Given the description of an element on the screen output the (x, y) to click on. 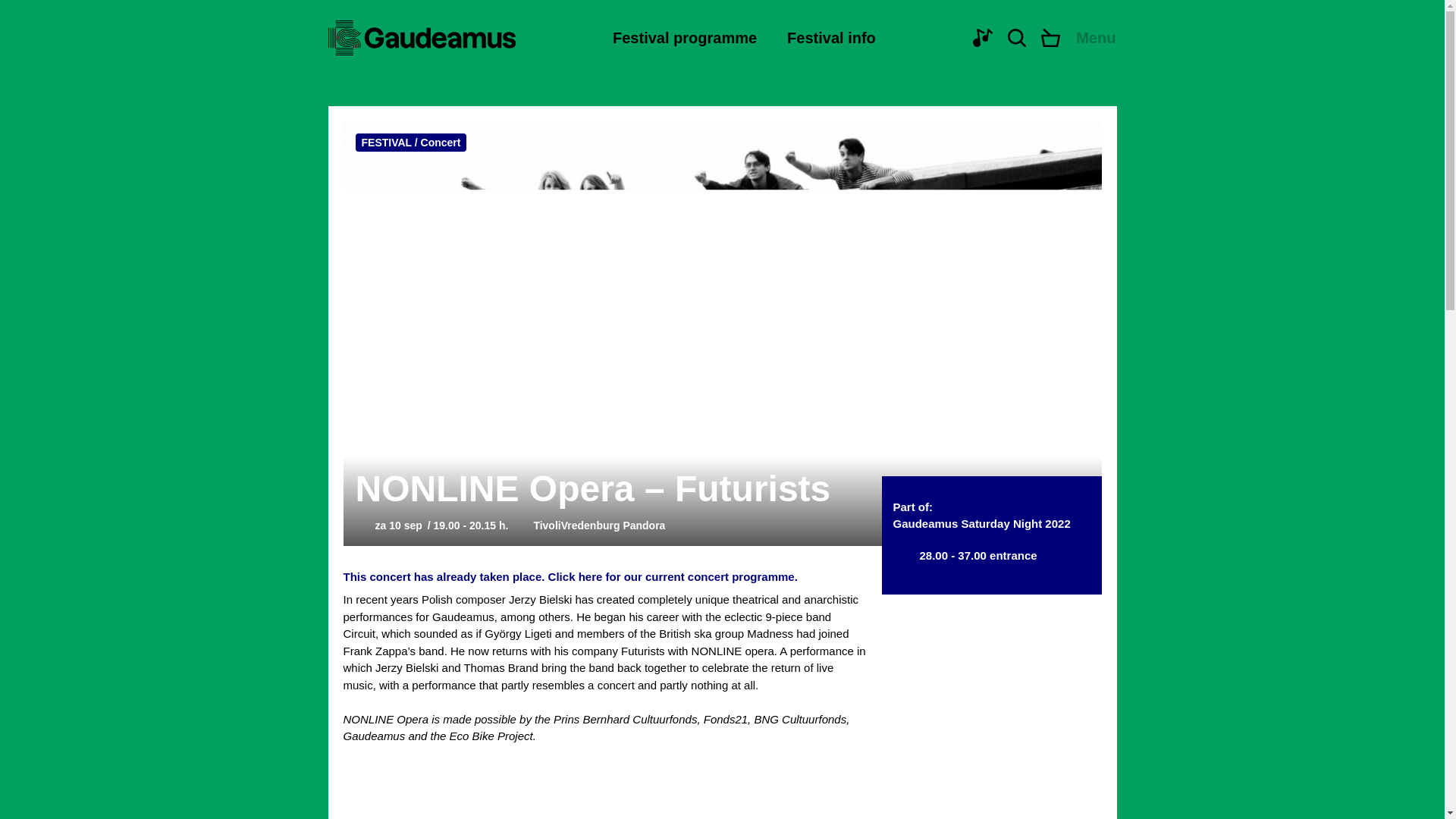
Gaudeamus Saturday Night 2022 (981, 522)
Festival info (831, 37)
Festival programme (684, 37)
Menu (1095, 37)
